Given the description of an element on the screen output the (x, y) to click on. 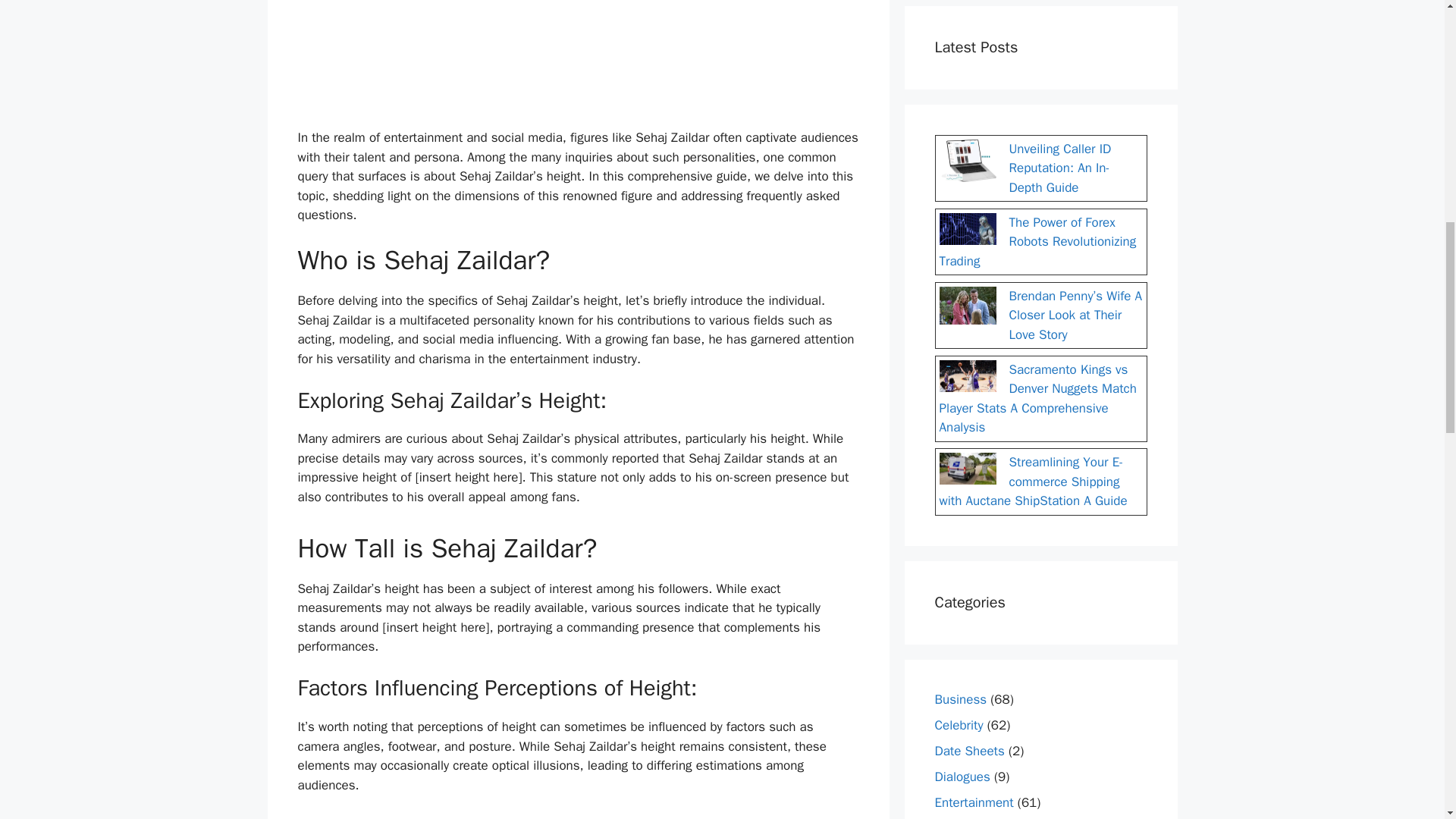
Dialogues (962, 776)
Business (960, 699)
Entertainment (973, 802)
Scroll back to top (1406, 720)
The Power of Forex Robots Revolutionizing Trading (1037, 240)
Celebrity (958, 725)
Date Sheets (969, 750)
Unveiling Caller ID Reputation: An In-Depth Guide (1059, 167)
Advertisement (578, 61)
